Given the description of an element on the screen output the (x, y) to click on. 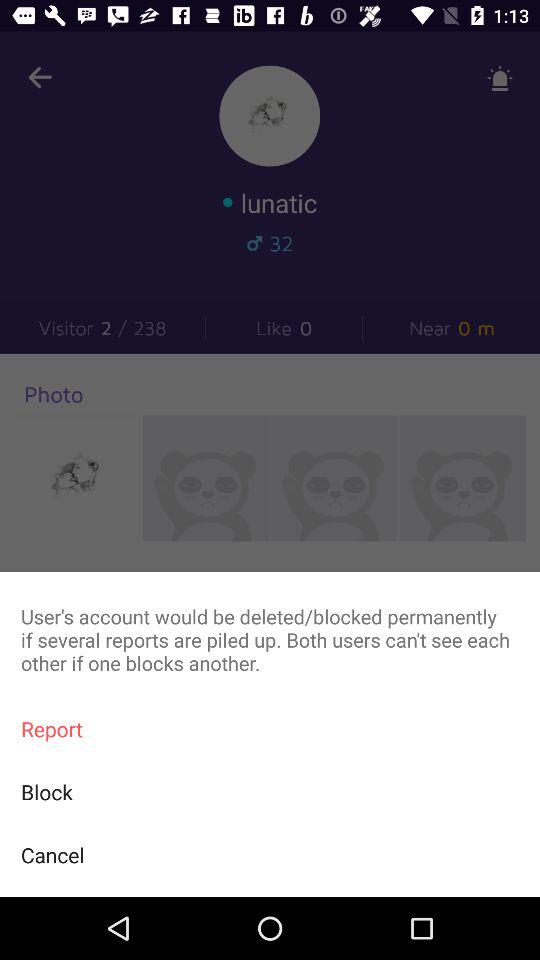
scroll to the block (270, 791)
